Given the description of an element on the screen output the (x, y) to click on. 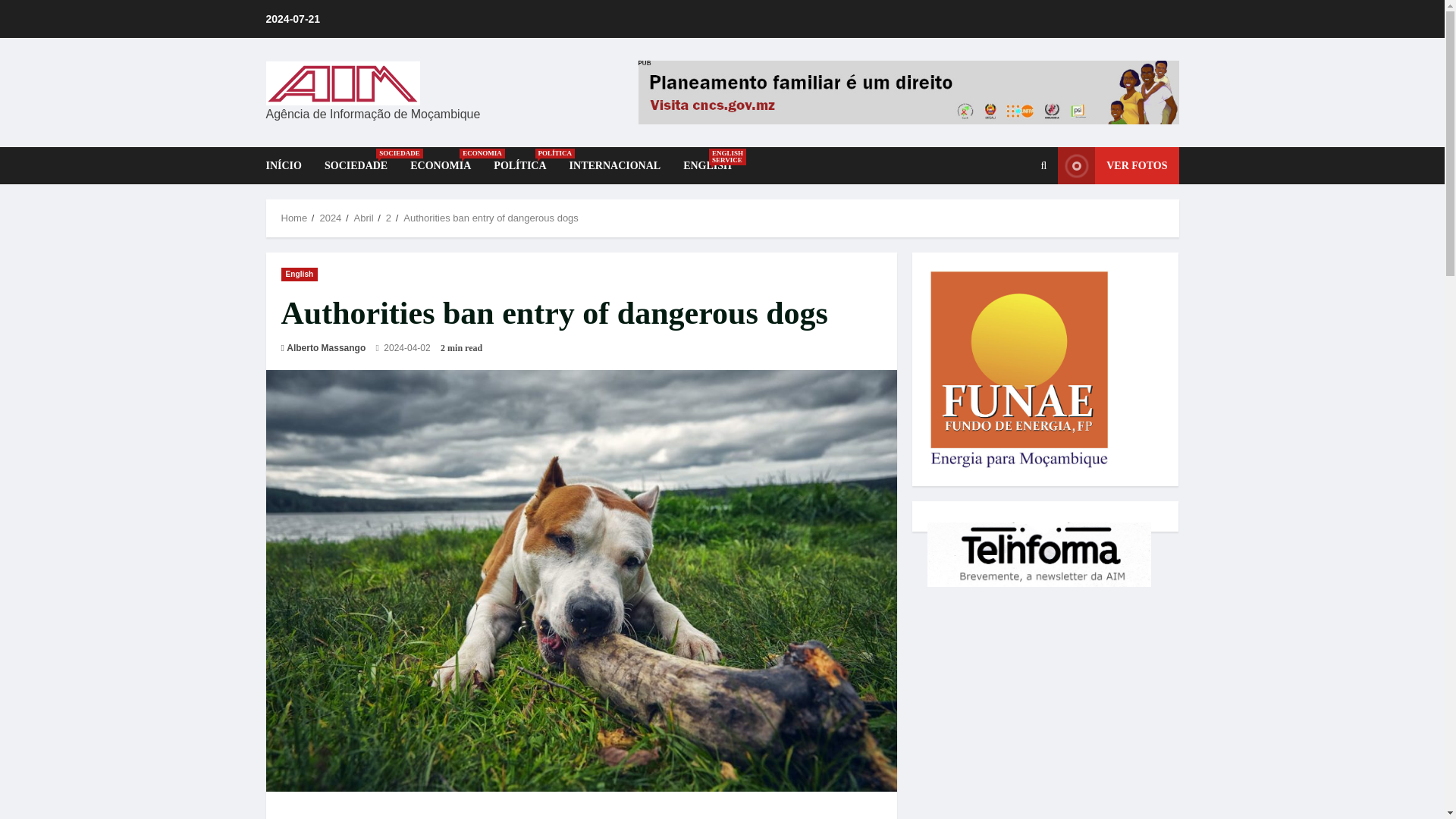
INTERNACIONAL (614, 165)
Abril (363, 217)
Authorities ban entry of dangerous dogs (490, 217)
English (299, 274)
Alberto Massango (325, 347)
VER FOTOS (1117, 165)
Pesquisar (1007, 217)
2024 (329, 217)
Home (294, 217)
